Given the description of an element on the screen output the (x, y) to click on. 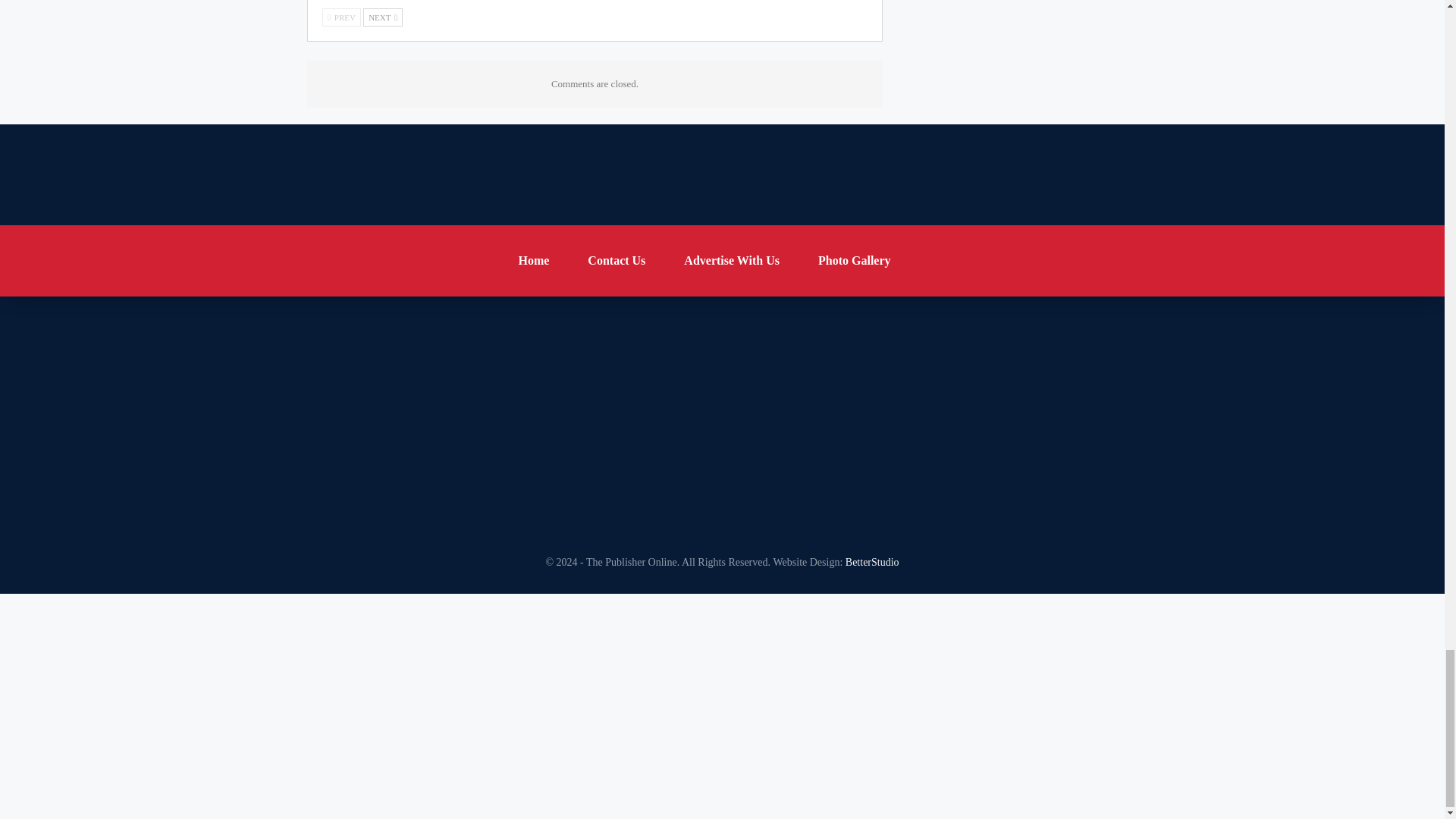
Next (382, 17)
Previous (341, 17)
